Given the description of an element on the screen output the (x, y) to click on. 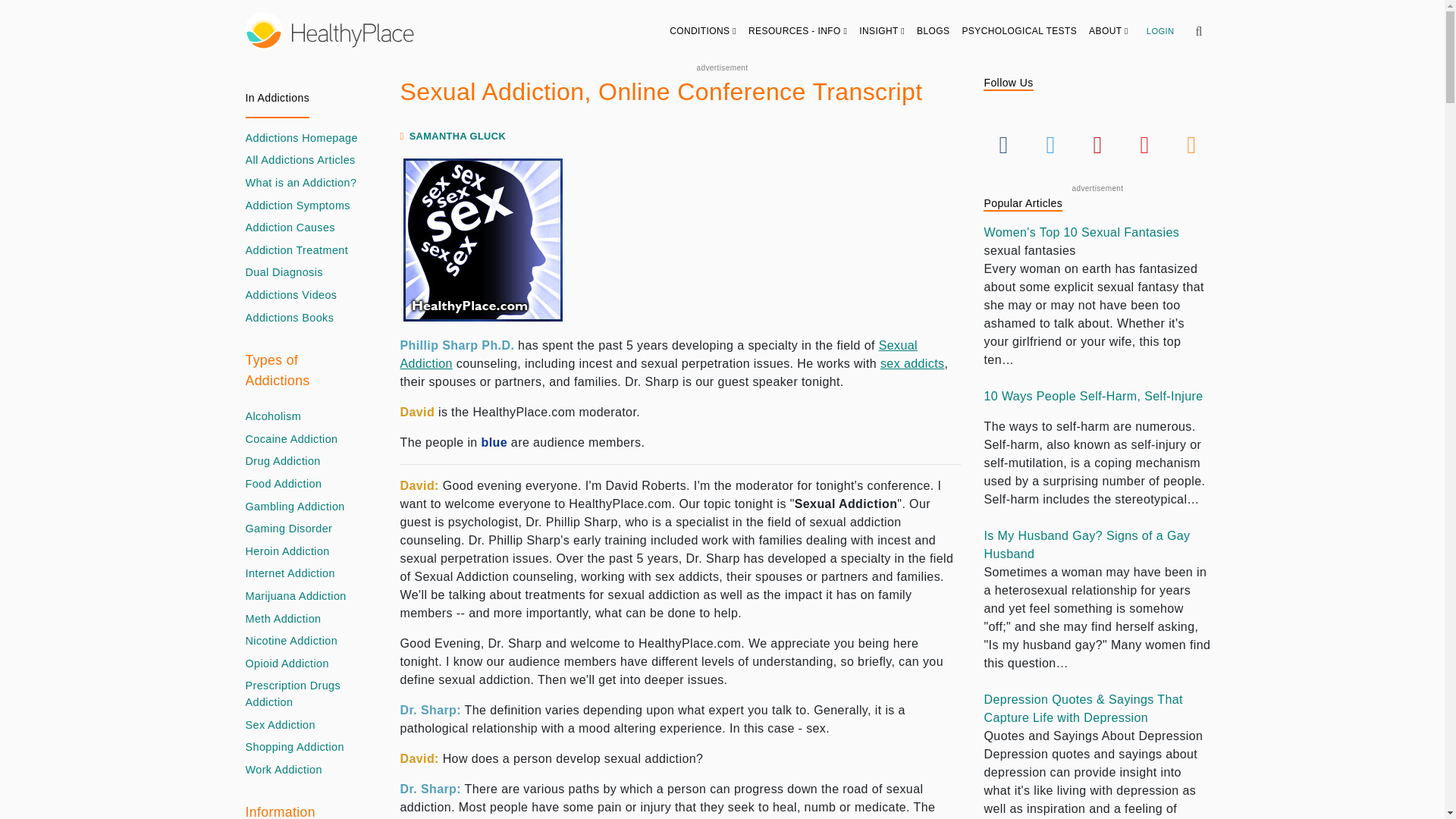
What Is an Addiction? Addiction Definition (301, 183)
Is Marijuana Addictive? Can You Develop a Weed Addiction? (296, 596)
Meth Addiction: How Do People Become Addicted to Meth? (283, 619)
What is Sexual Addiction - Sexual Compulsion? (280, 725)
Addicted to Food. What is Food Addiction? (283, 484)
What is Gaming Disorder? Symptoms, Causes, Treatment (289, 528)
Dual Diagnosis: Substance Abuse Plus A Mental Illness (284, 272)
Nicotine-Tobacco-Cigarette Smoking Addiction (291, 641)
Cocaine Addiction and Cocaine Addicts (291, 439)
Addiction Treatment: Addiction Therapy, Addiction Rehab (297, 250)
What is Drug Addiction? Drug Addiction Information (283, 461)
RESOURCES - INFO (797, 31)
What is Internet Addiction, Online Addiction? (290, 573)
